Given the description of an element on the screen output the (x, y) to click on. 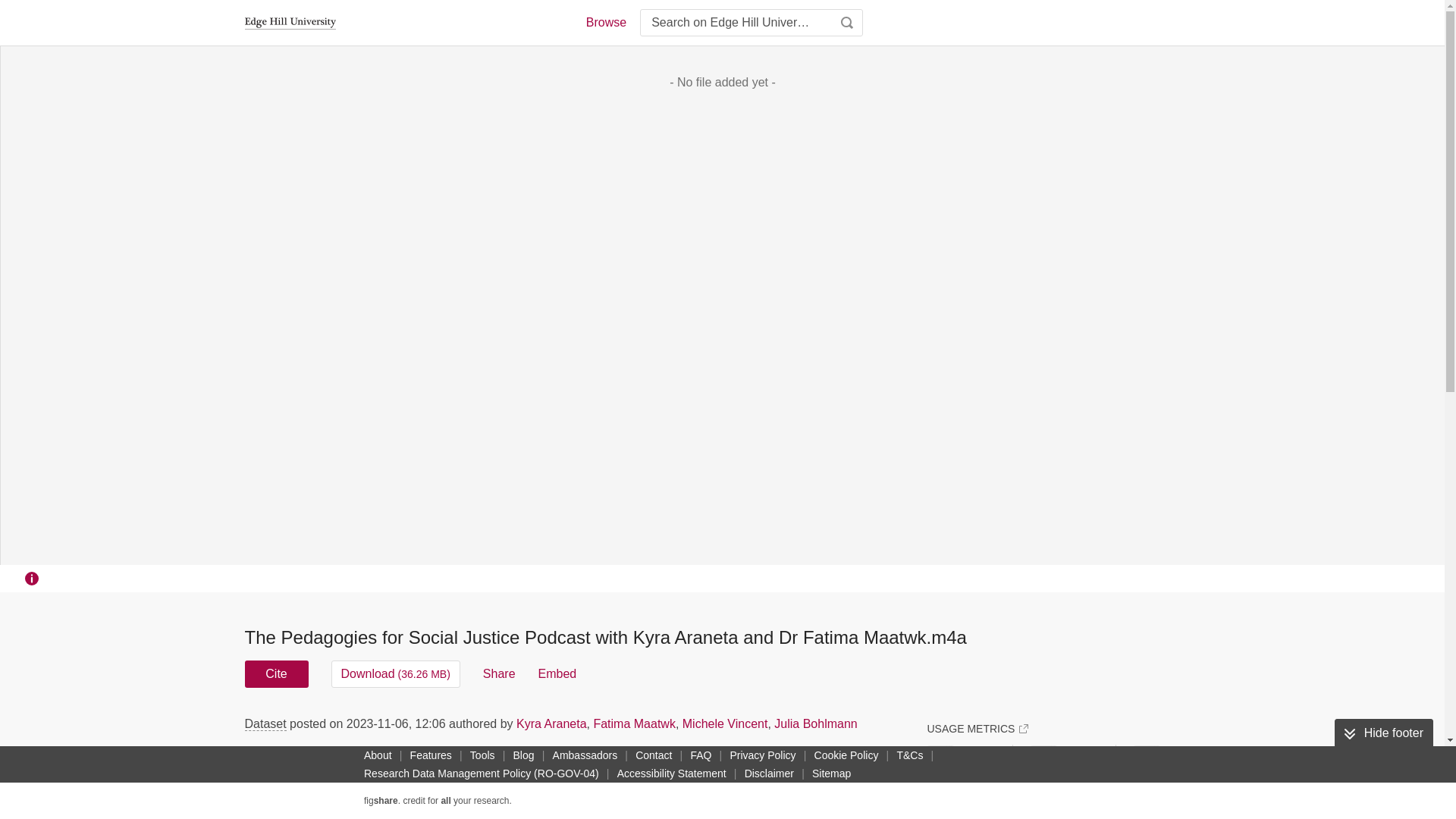
Michele Vincent (725, 723)
Share (499, 673)
Embed (557, 673)
Privacy Policy (762, 755)
Fatima Maatwk (633, 723)
Blog (523, 755)
Cookie Policy (846, 755)
Tools (482, 755)
About (377, 755)
FAQ (700, 755)
Cite (275, 673)
Julia Bohlmann (815, 723)
Browse (605, 22)
USAGE METRICS (976, 728)
Features (431, 755)
